Given the description of an element on the screen output the (x, y) to click on. 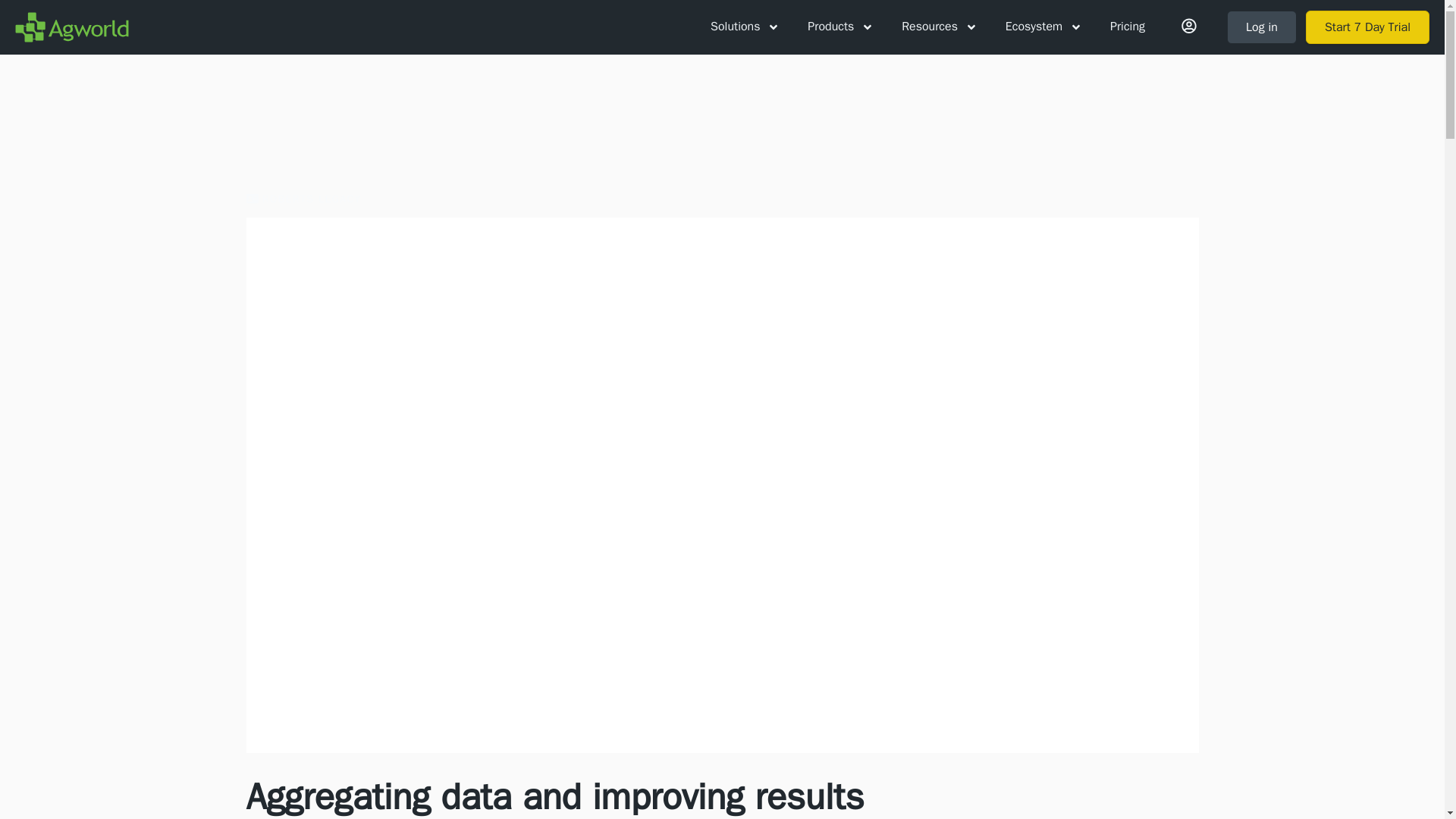
Products (838, 26)
Solutions (743, 26)
Resources (938, 26)
